Given the description of an element on the screen output the (x, y) to click on. 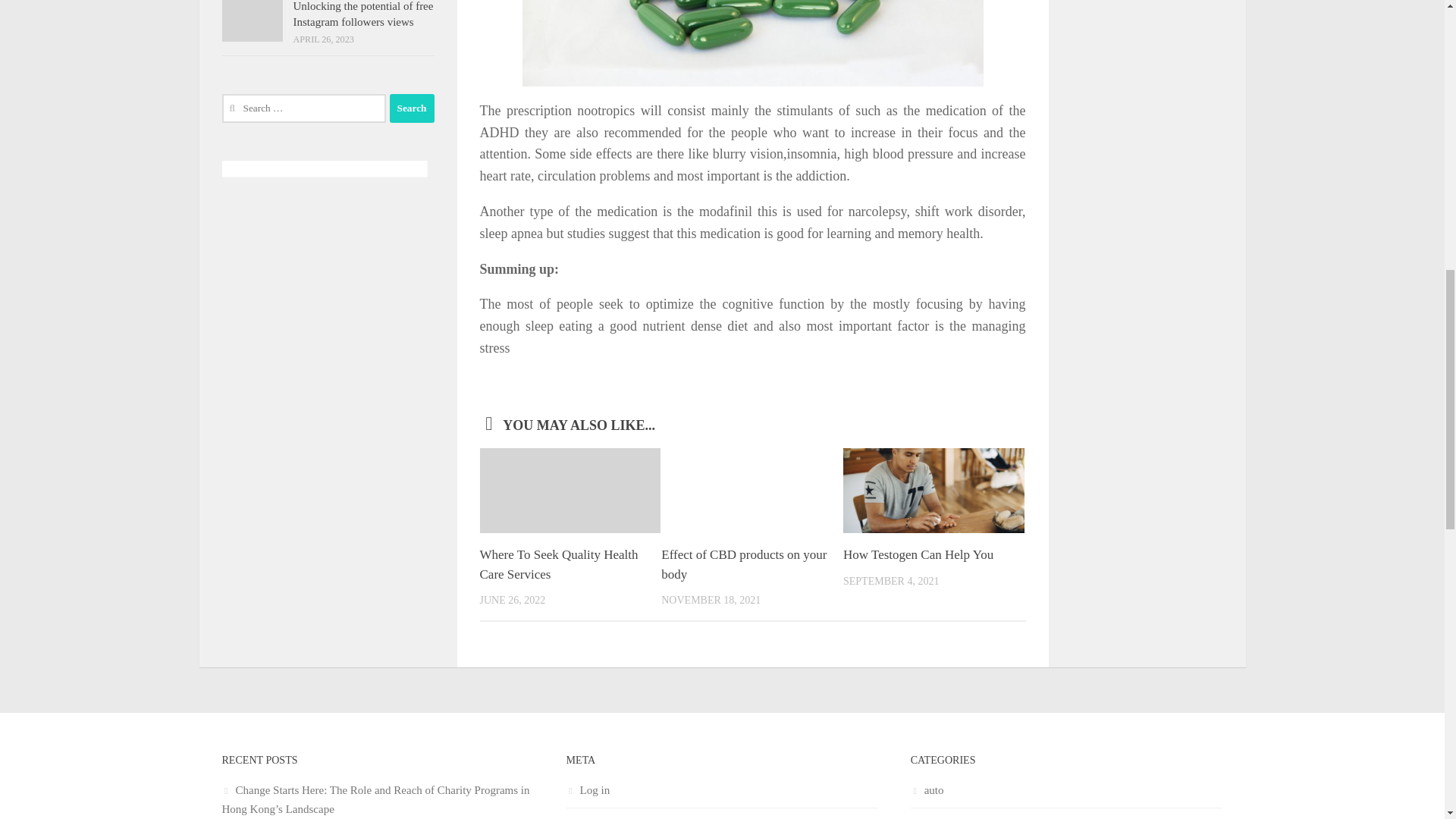
Where To Seek Quality Health Care Services (558, 564)
How Testogen Can Help You (917, 554)
Search (411, 108)
Effect of CBD products on your body (744, 564)
Search (411, 108)
